Given the description of an element on the screen output the (x, y) to click on. 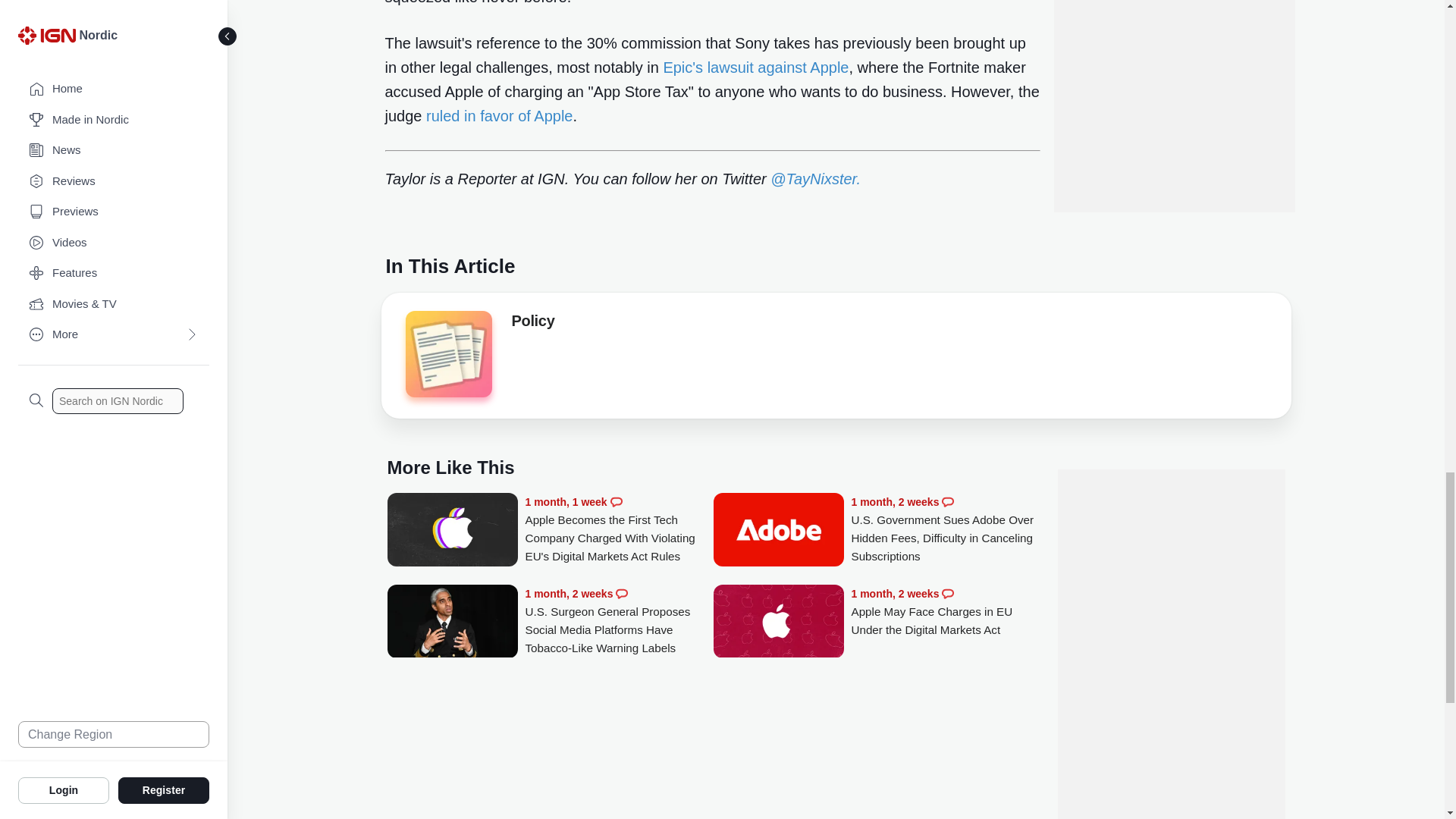
Policy (532, 323)
Apple May Face Charges in EU Under the Digital Markets Act (778, 622)
Comments (621, 593)
Policy (448, 354)
Apple May Face Charges in EU Under the Digital Markets Act (944, 611)
Comments (616, 501)
Comments (947, 501)
Comments (947, 593)
Policy (448, 358)
